Given the description of an element on the screen output the (x, y) to click on. 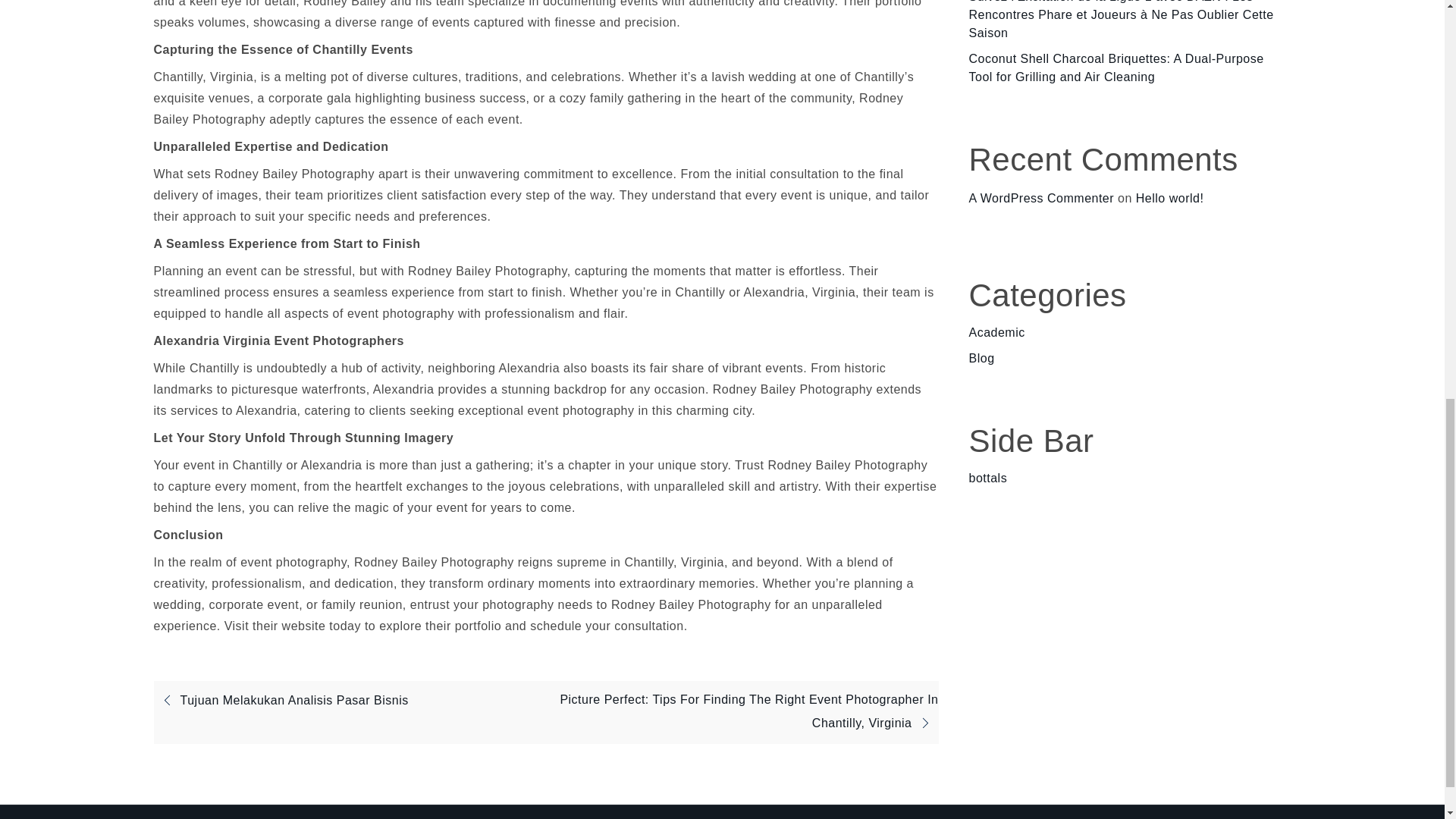
bottals (988, 477)
Blog (981, 358)
Academic (997, 332)
Hello world! (1169, 197)
Tujuan Melakukan Analisis Pasar Bisnis (279, 699)
A WordPress Commenter (1042, 197)
